Given the description of an element on the screen output the (x, y) to click on. 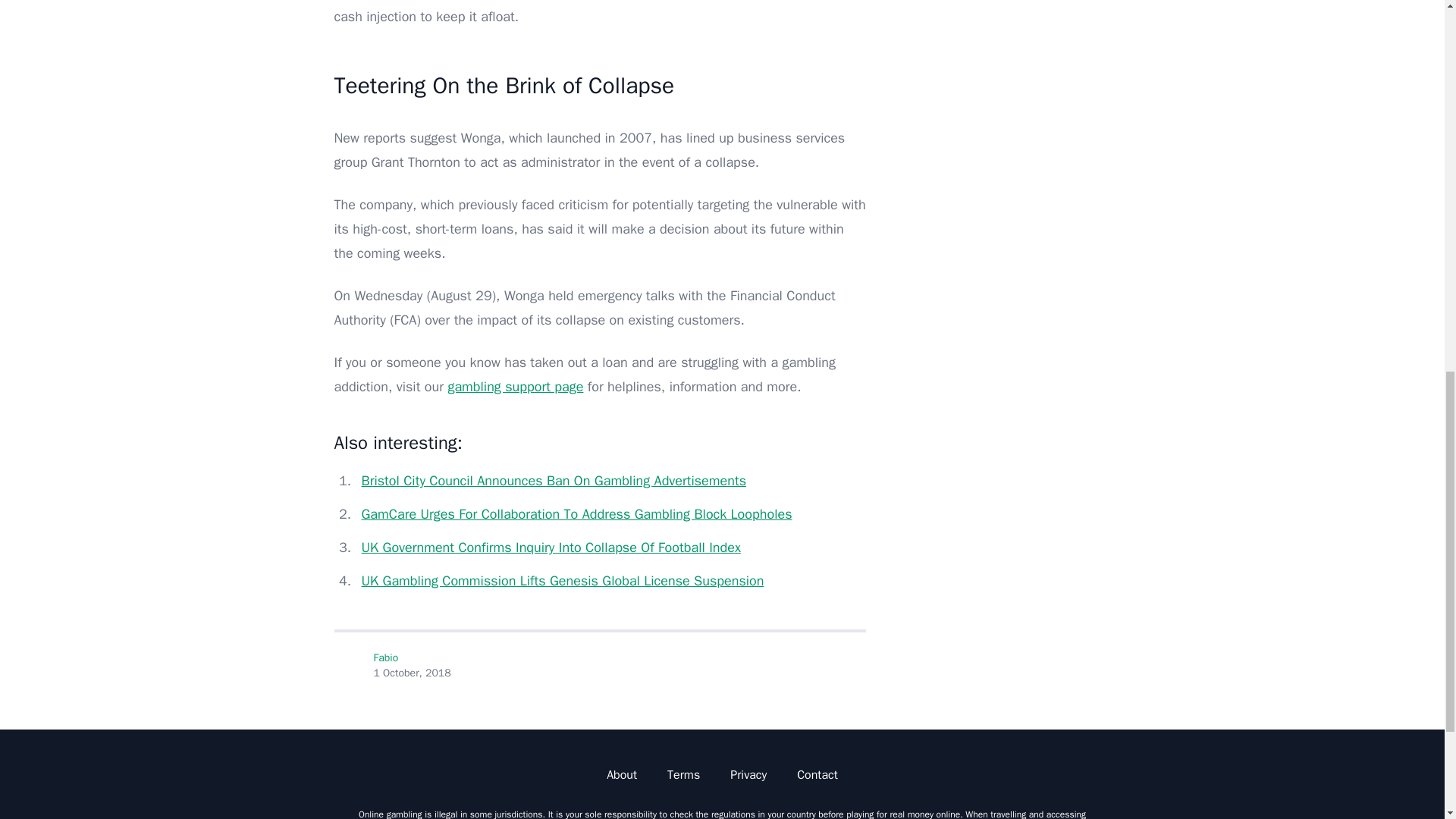
gambling support page (514, 386)
